Given the description of an element on the screen output the (x, y) to click on. 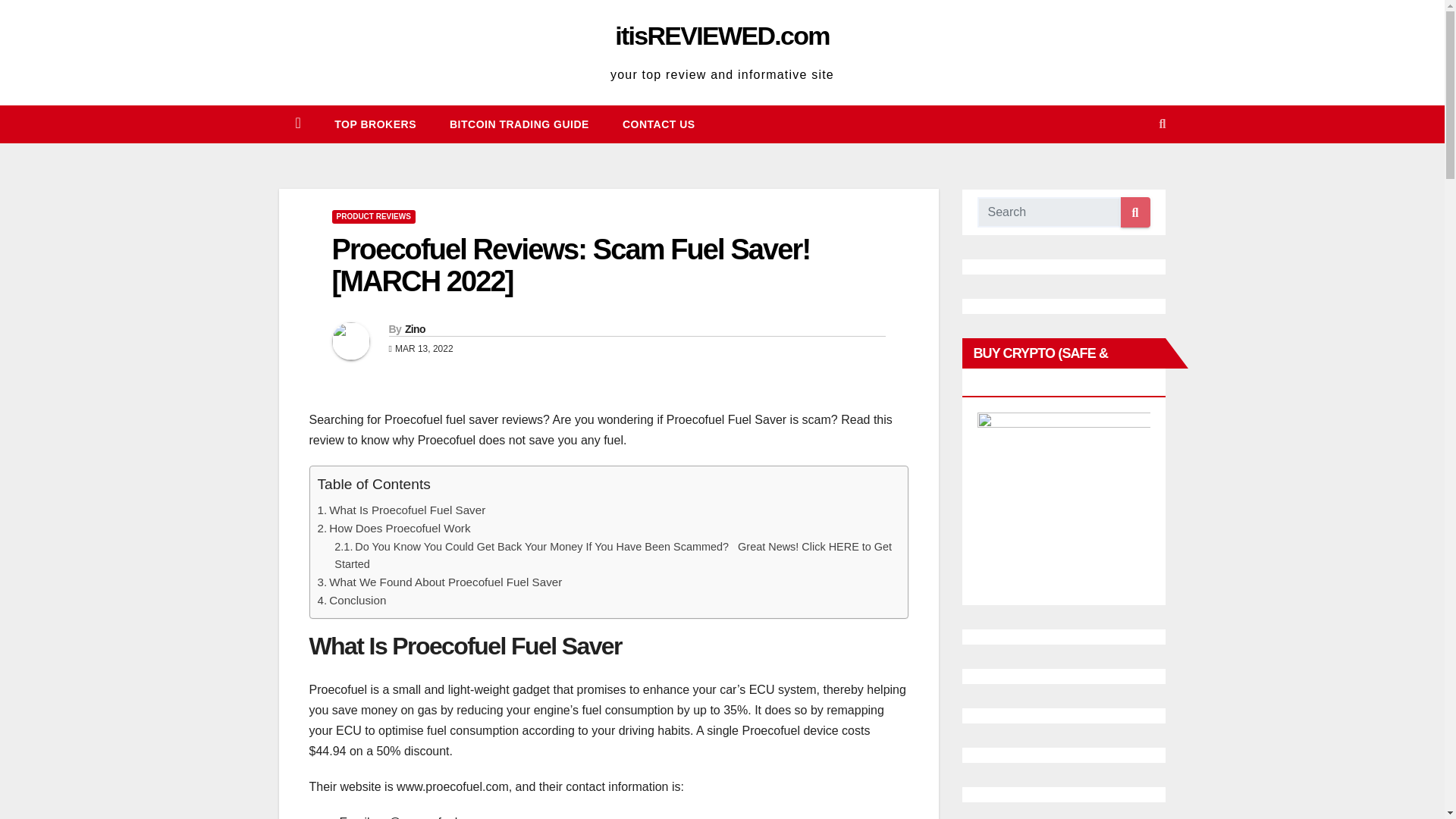
CONTACT US (658, 124)
BITCOIN TRADING GUIDE (518, 124)
Conclusion (357, 599)
Zino (414, 328)
What We Found About Proecofuel Fuel Saver (445, 581)
What Is Proecofuel Fuel Saver (406, 509)
How Does Proecofuel Work (399, 527)
Contact us (658, 124)
What Is Proecofuel Fuel Saver (406, 509)
How Does Proecofuel Work (399, 527)
PRODUCT REVIEWS (372, 216)
BITCOIN TRADING GUIDE (518, 124)
TOP BROKERS (374, 124)
